Given the description of an element on the screen output the (x, y) to click on. 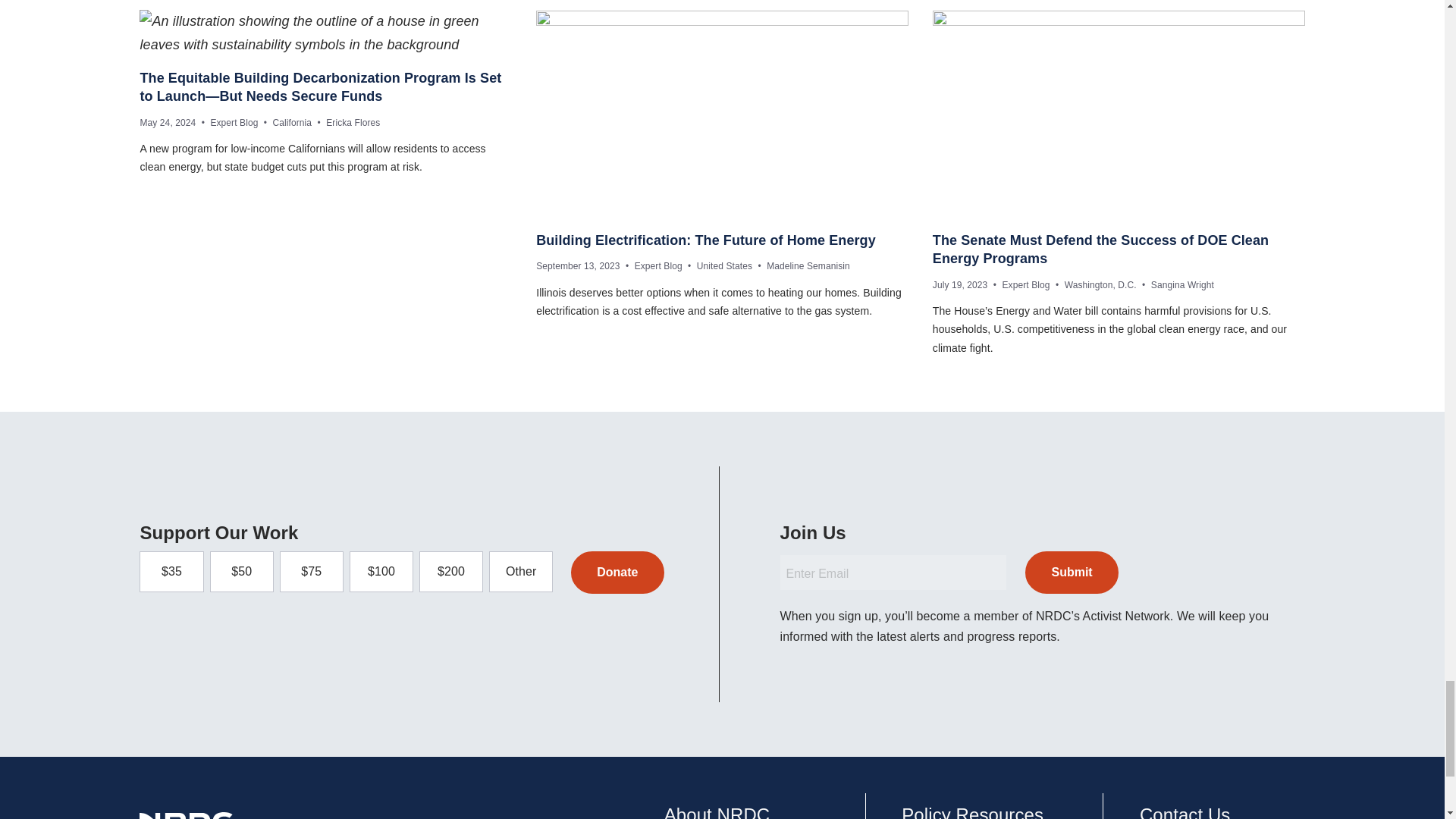
NRDC Logo (187, 815)
